Given the description of an element on the screen output the (x, y) to click on. 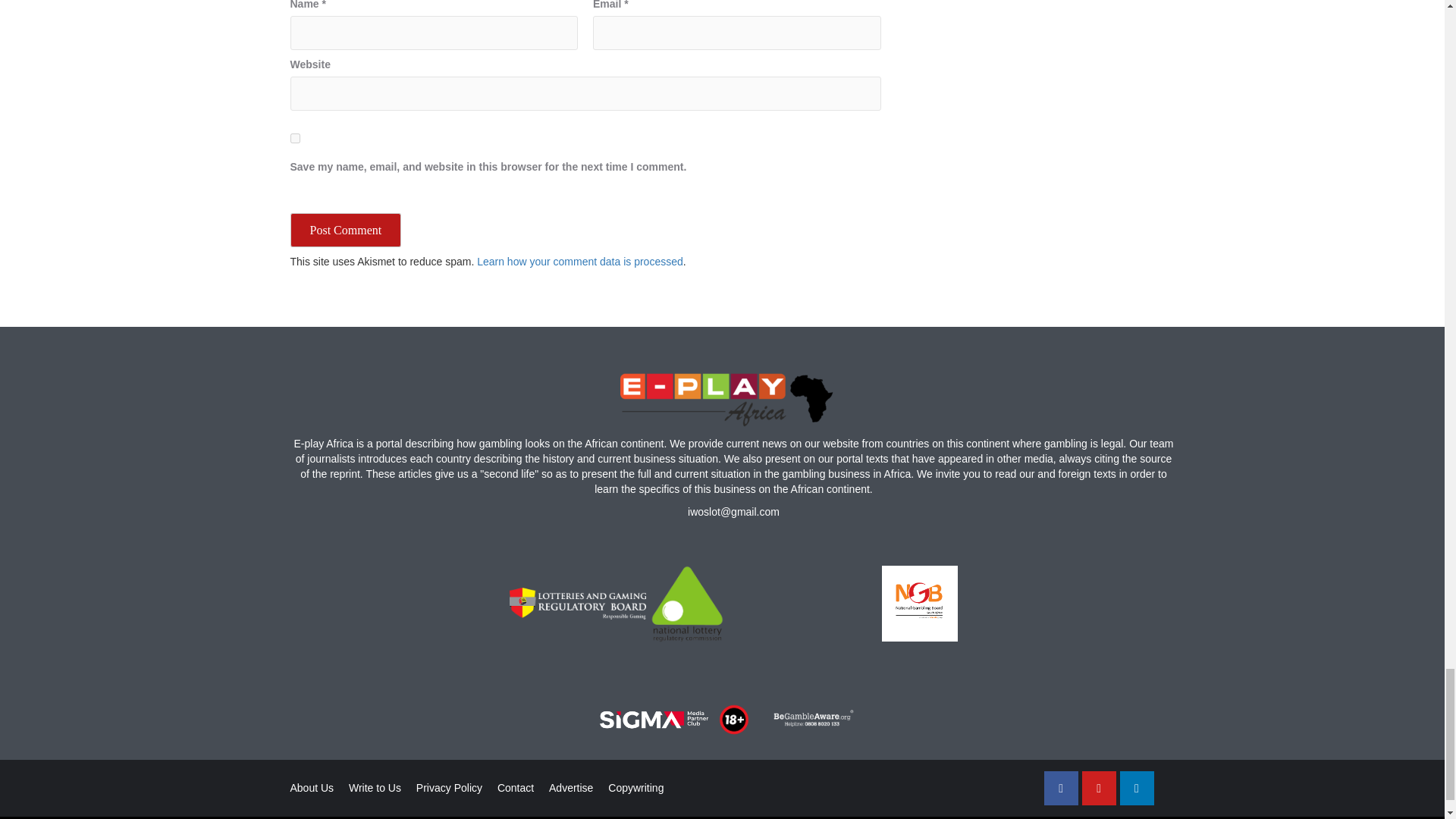
Post Comment (345, 229)
